Given the description of an element on the screen output the (x, y) to click on. 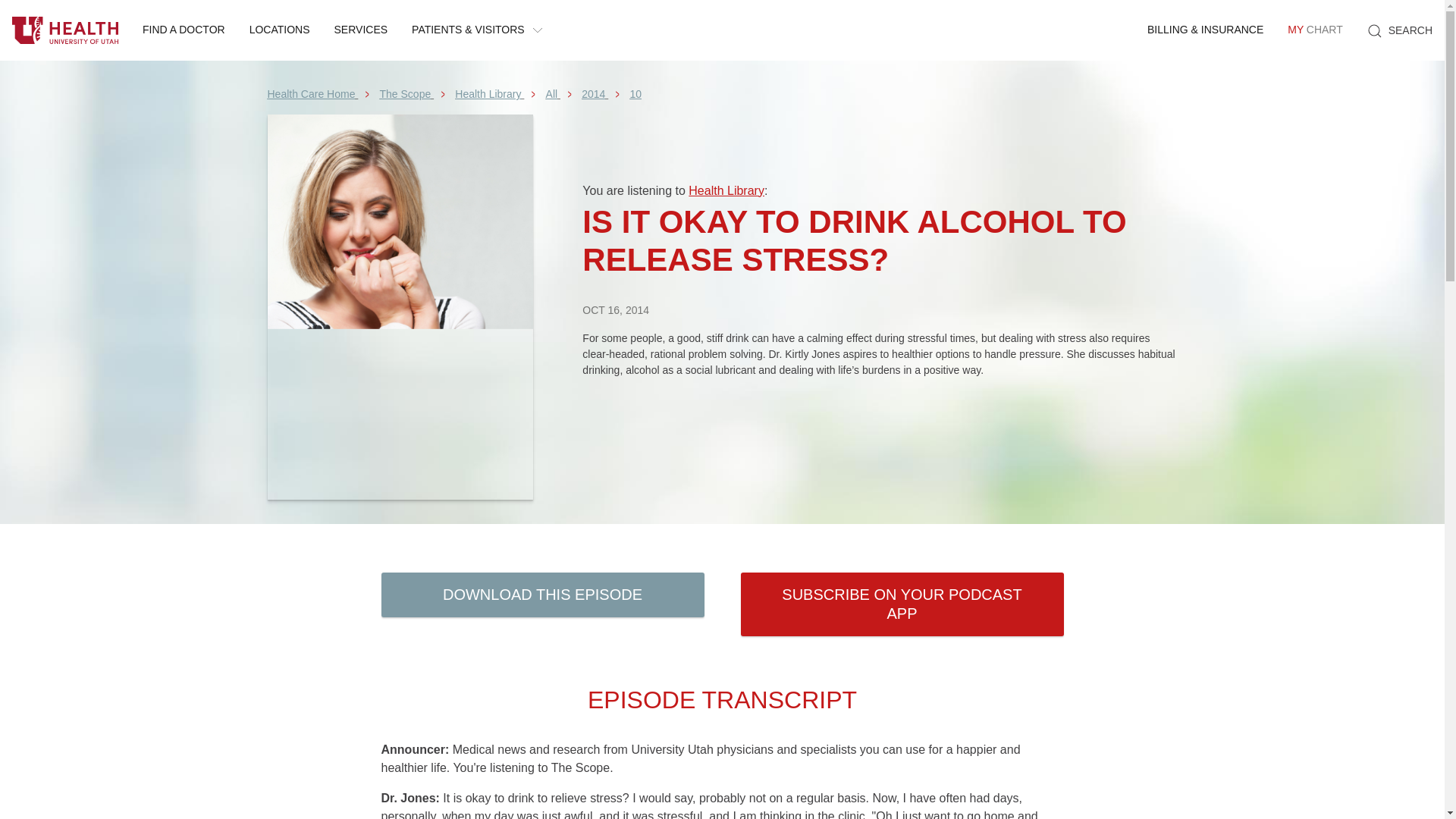
2014 (592, 93)
10 (635, 93)
The Kaltura Dynamic Video Player (879, 417)
SERVICES (360, 30)
Health Library (726, 190)
SEARCH (1399, 30)
All (1314, 30)
Health Care Home (551, 93)
